Given the description of an element on the screen output the (x, y) to click on. 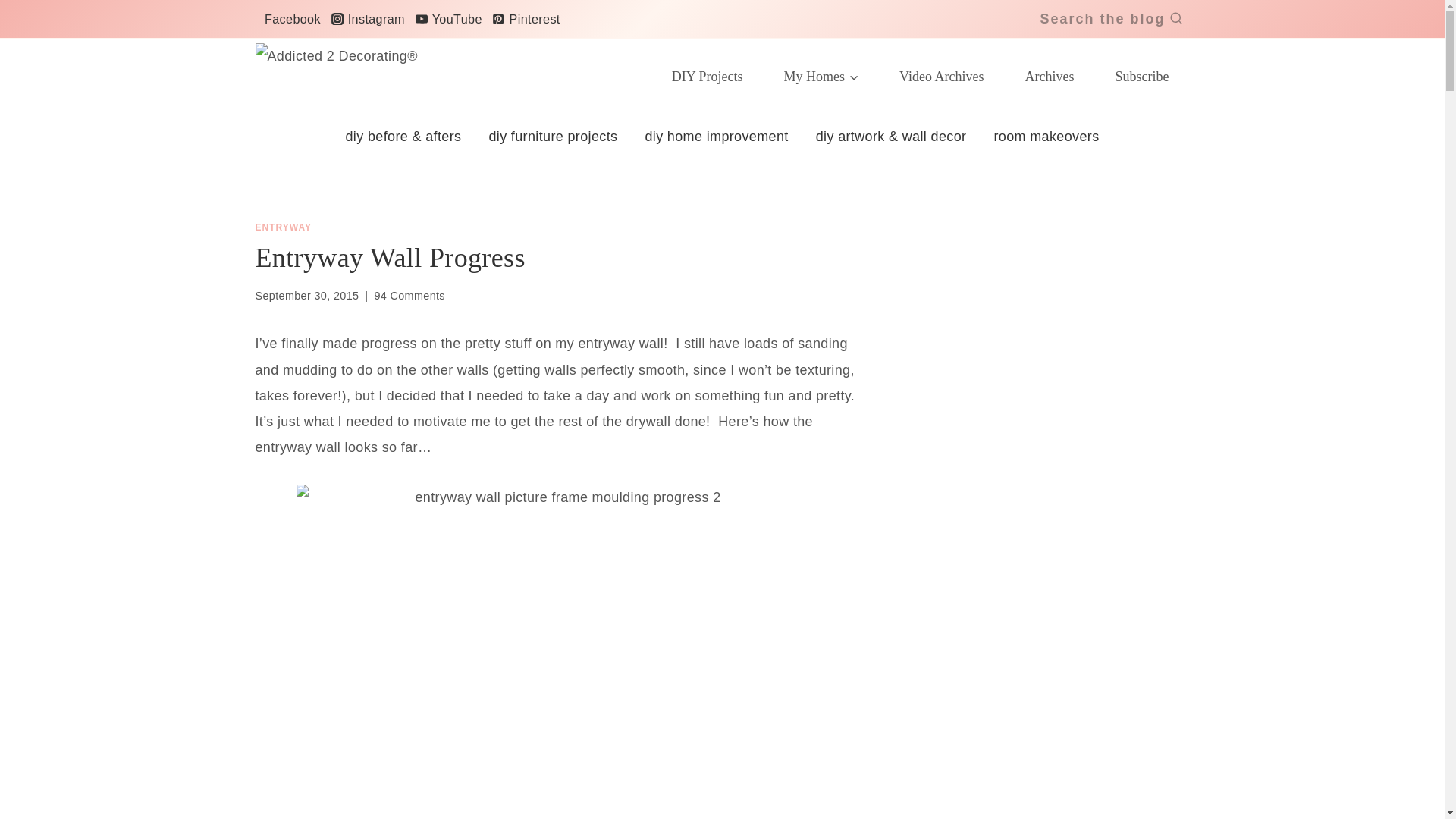
Archives (1049, 76)
94 Comments (409, 295)
ENTRYWAY (282, 226)
Facebook (289, 18)
room makeovers (1045, 136)
YouTube (448, 18)
Search the blog (1110, 18)
94 Comments (409, 295)
diy home improvement (716, 136)
Instagram (367, 18)
